Given the description of an element on the screen output the (x, y) to click on. 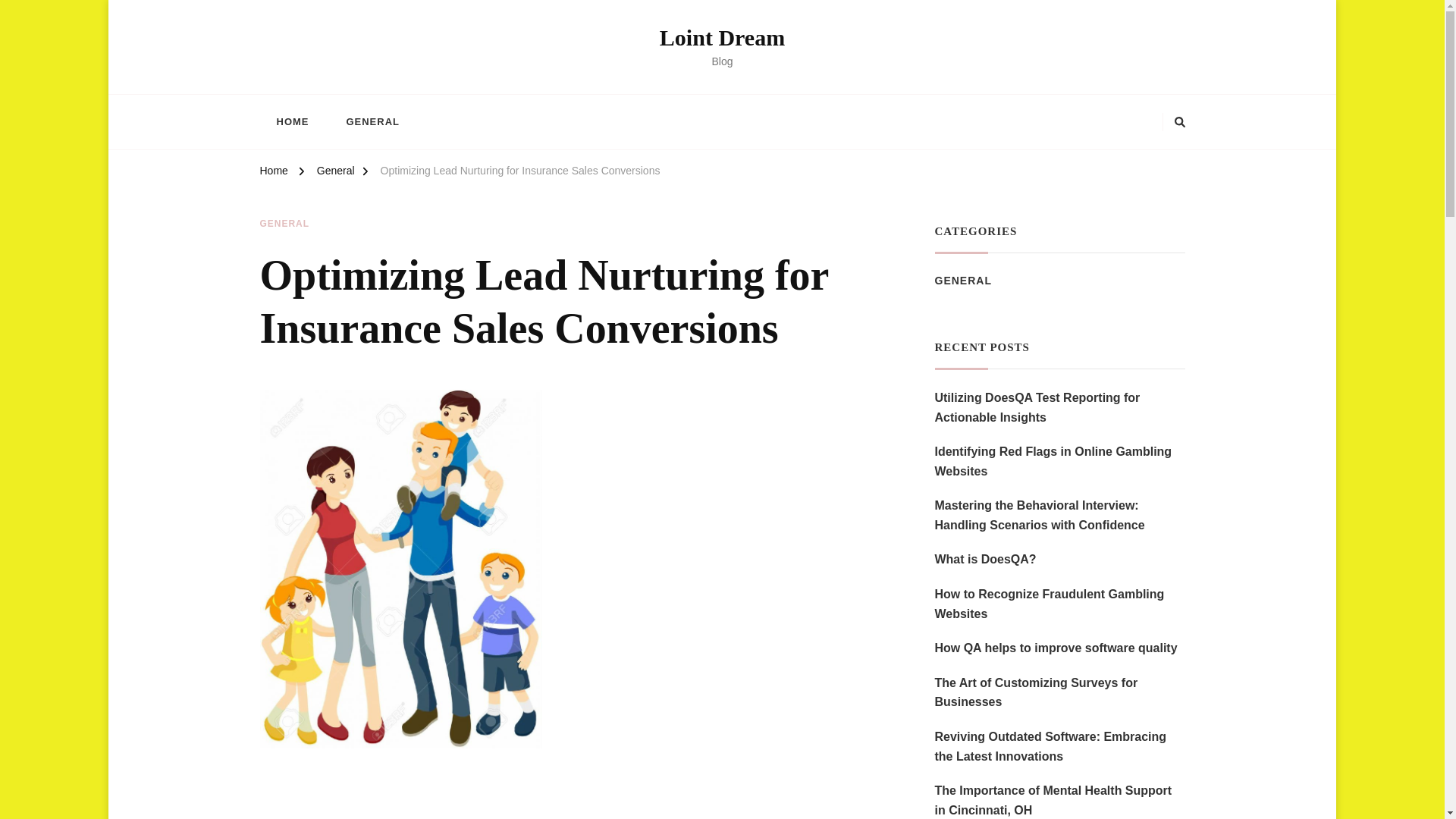
GENERAL (283, 223)
GENERAL (962, 280)
HOME (291, 121)
Loint Dream (721, 37)
General (336, 172)
Home (272, 172)
Optimizing Lead Nurturing for Insurance Sales Conversions (520, 172)
GENERAL (371, 121)
Identifying Red Flags in Online Gambling Websites (1059, 461)
Utilizing DoesQA Test Reporting for Actionable Insights (1059, 407)
